Given the description of an element on the screen output the (x, y) to click on. 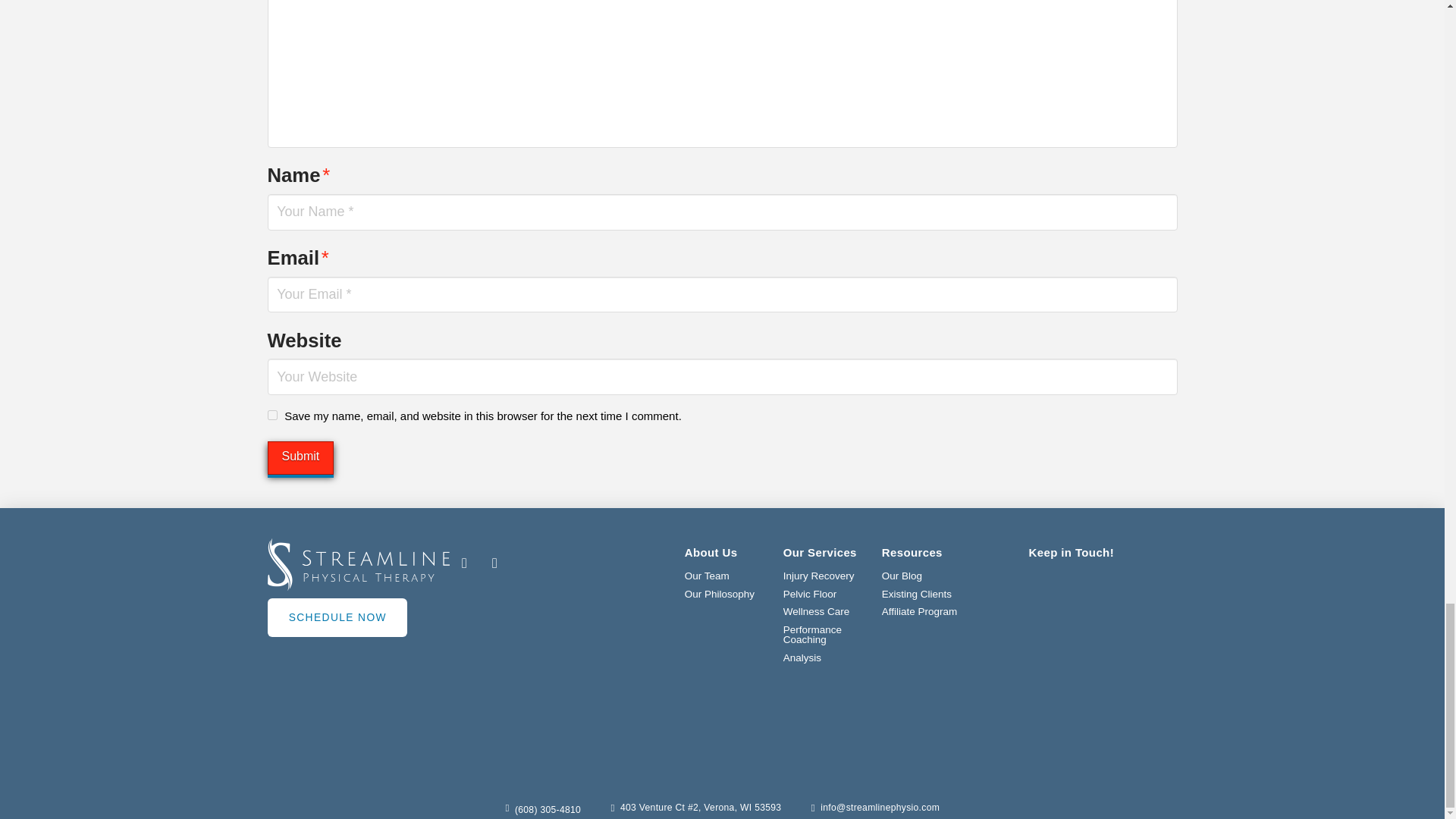
Submit (299, 458)
yes (271, 415)
Our Philosophy (719, 594)
Wellness Care (816, 611)
Submit (299, 458)
Existing Clients (917, 594)
SCHEDULE NOW (336, 617)
Pelvic Floor (810, 594)
Performance Coaching (824, 634)
Affiliate Program (920, 611)
